Given the description of an element on the screen output the (x, y) to click on. 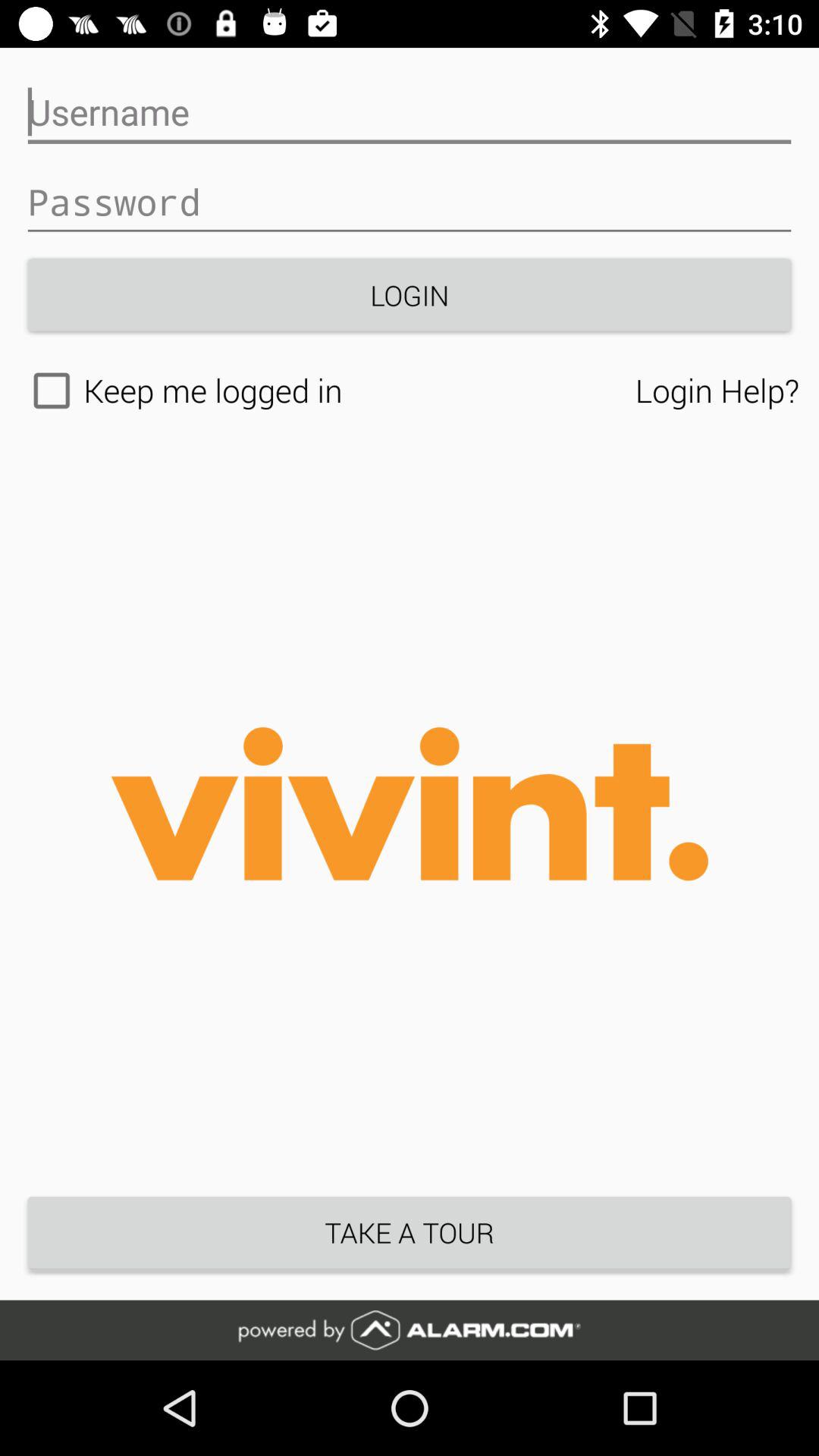
swipe until keep me logged item (327, 390)
